Given the description of an element on the screen output the (x, y) to click on. 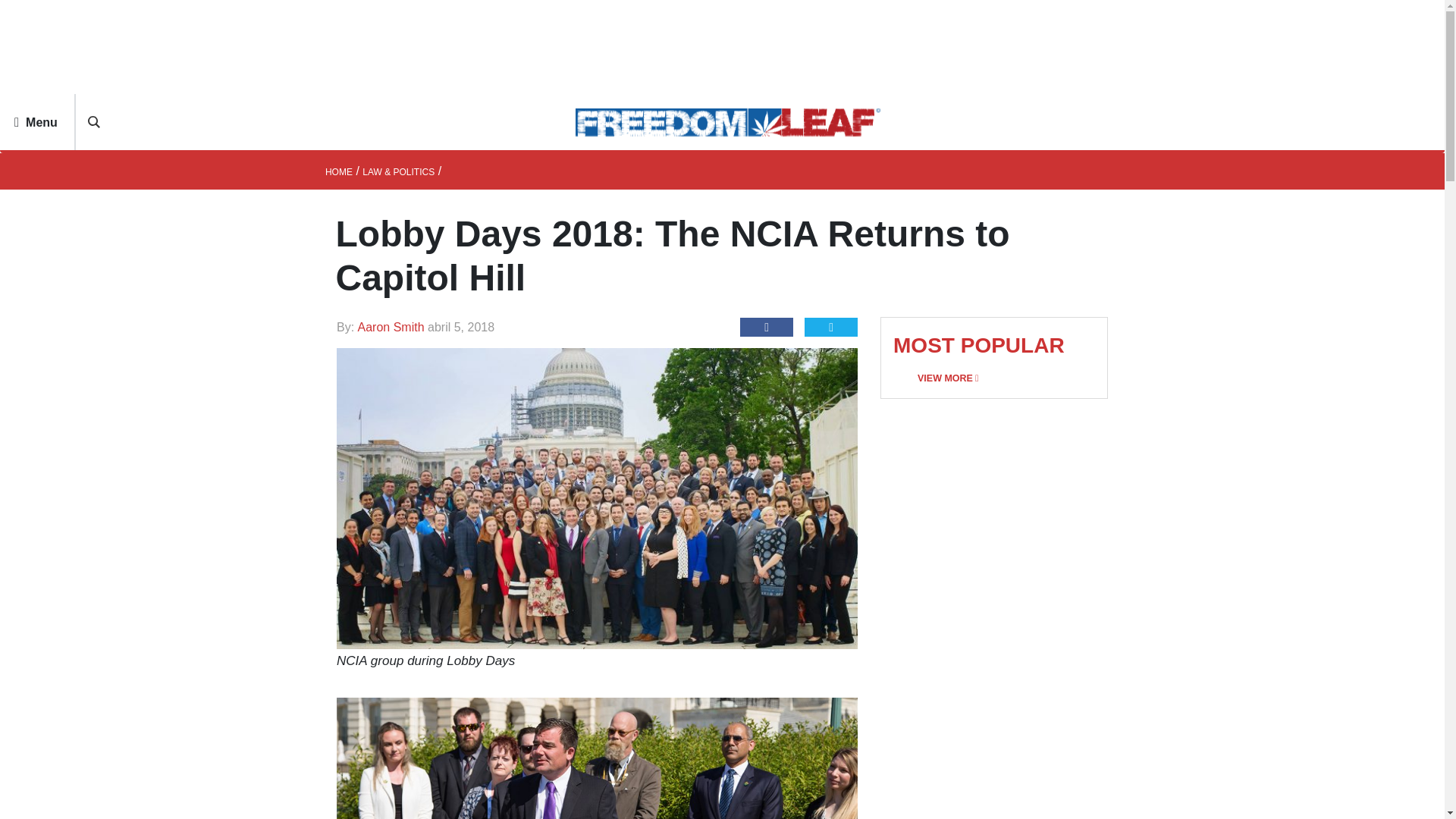
HOME (338, 172)
Aaron Smith (393, 327)
